Given the description of an element on the screen output the (x, y) to click on. 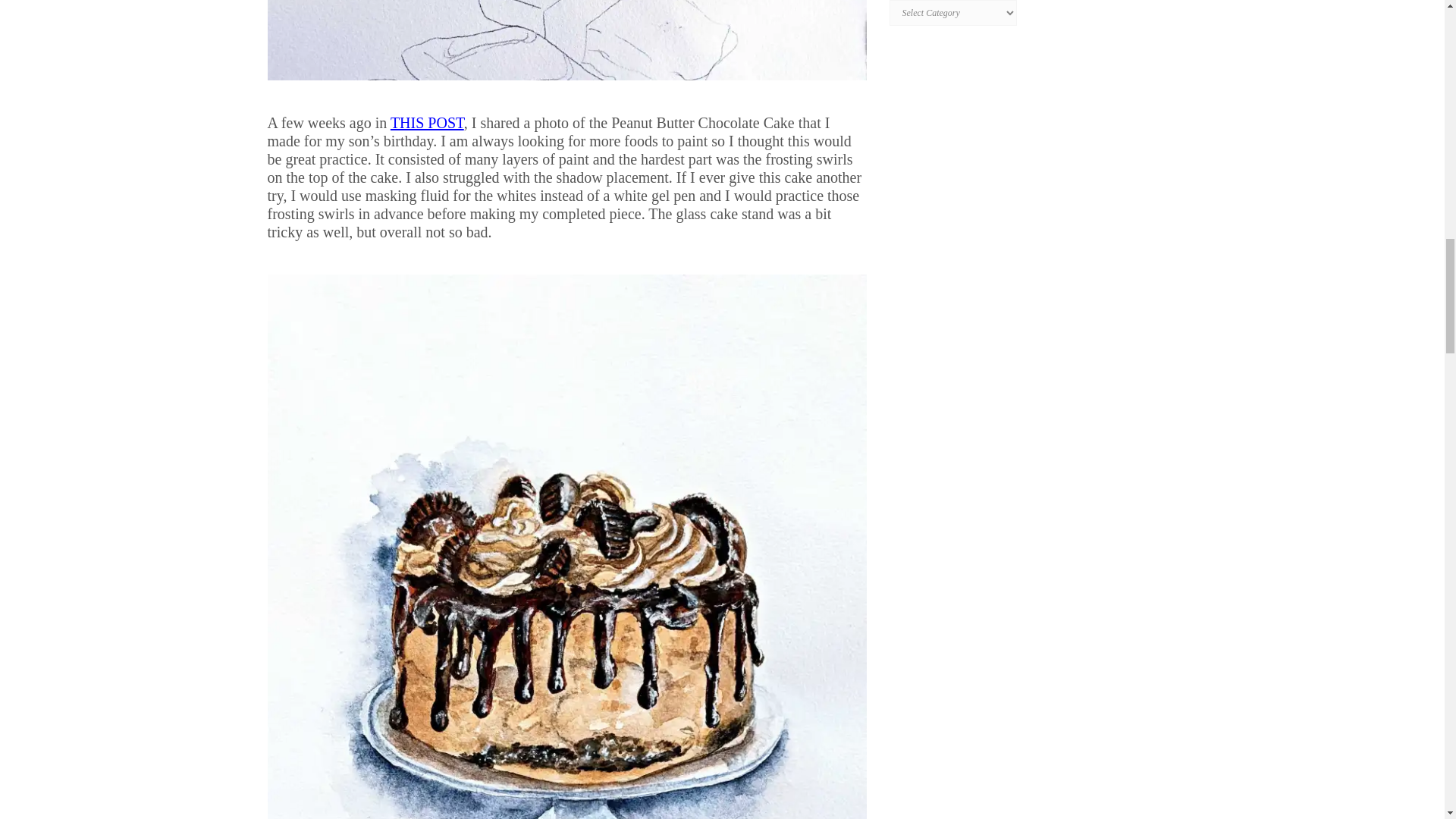
THIS POST (427, 122)
